Given the description of an element on the screen output the (x, y) to click on. 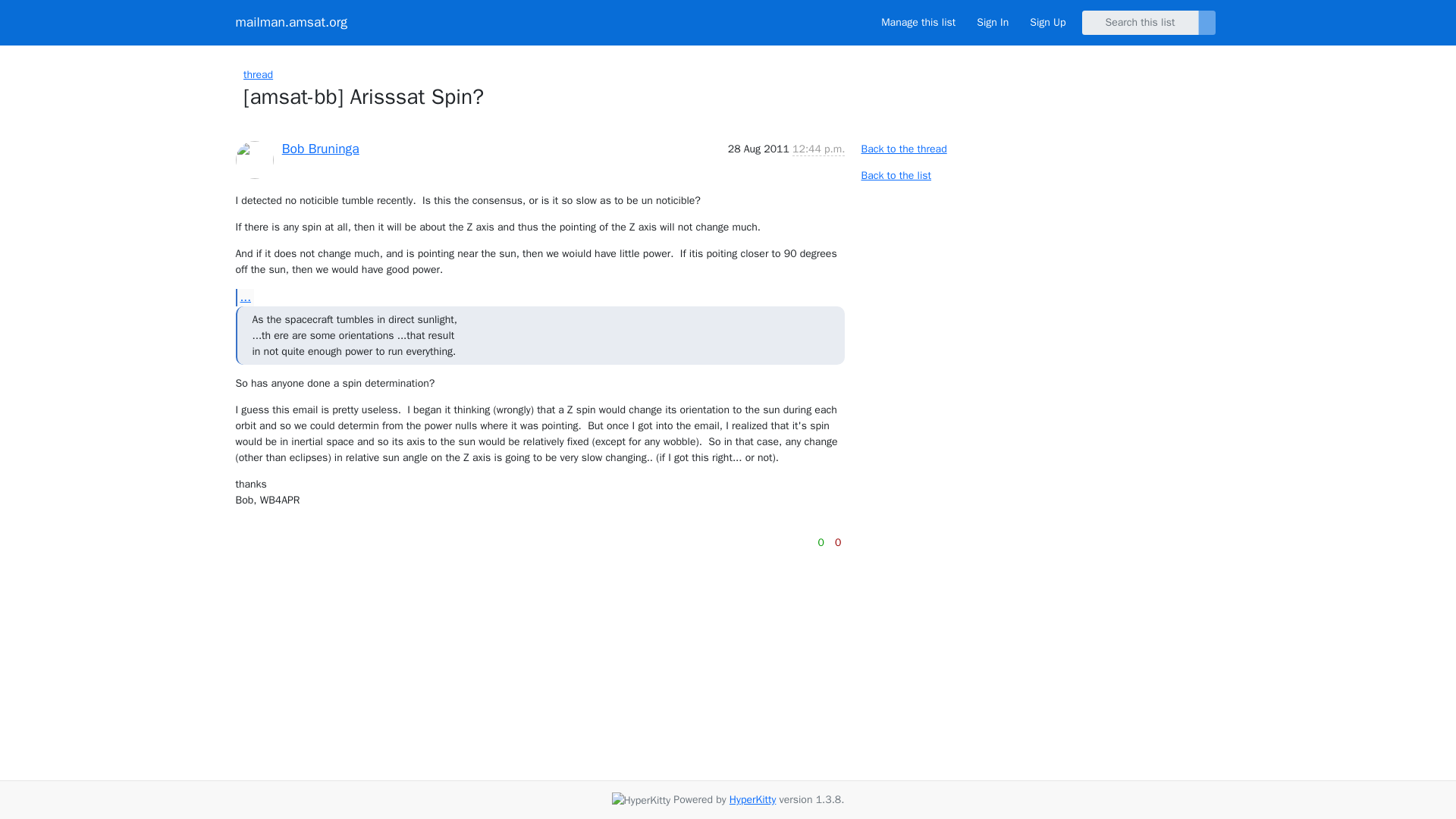
... (243, 297)
mailman.amsat.org (290, 22)
Back to the thread (903, 148)
thread (258, 74)
Display in fixed font (829, 527)
Bob Bruninga (320, 148)
See the profile for Bob Bruninga (320, 148)
Sign In (992, 22)
Sign Up (1047, 22)
Back to the list (895, 174)
Sender's time: Aug. 28, 2011, 1:44 p.m. (818, 149)
Manage this list (918, 22)
HyperKitty (752, 799)
